Given the description of an element on the screen output the (x, y) to click on. 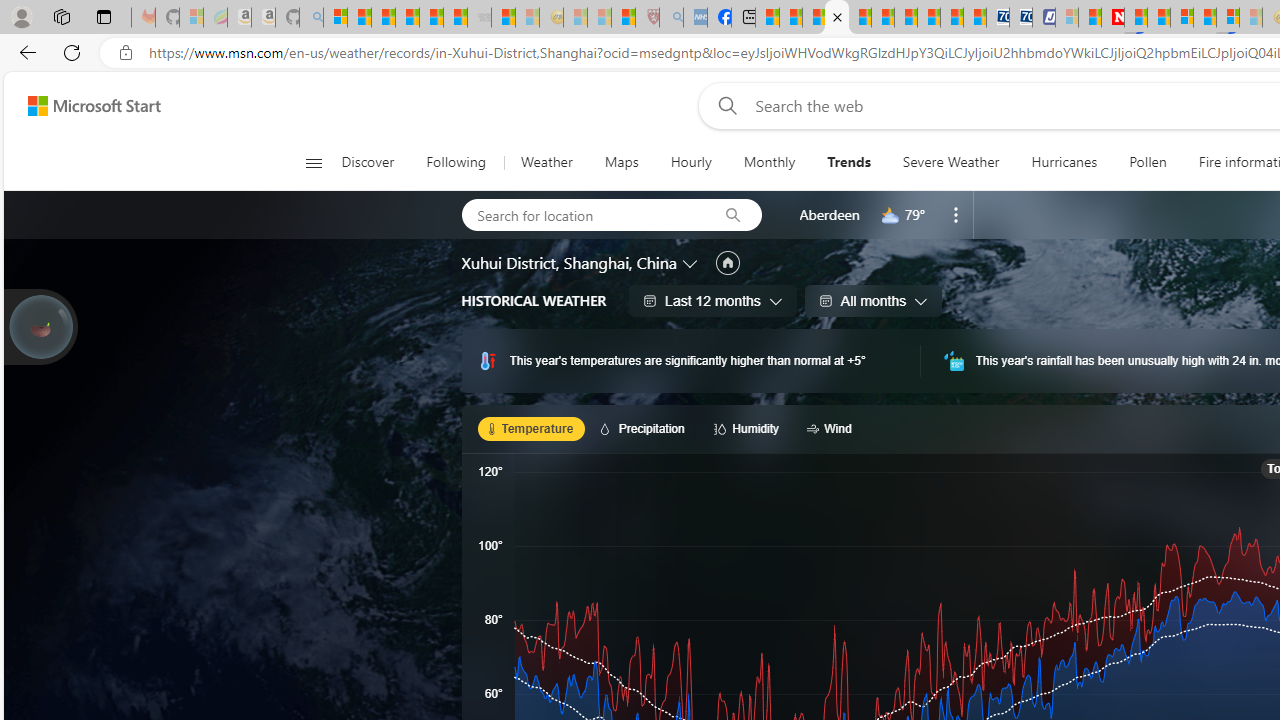
Join us in planting real trees to help our planet! (40, 325)
